Given the description of an element on the screen output the (x, y) to click on. 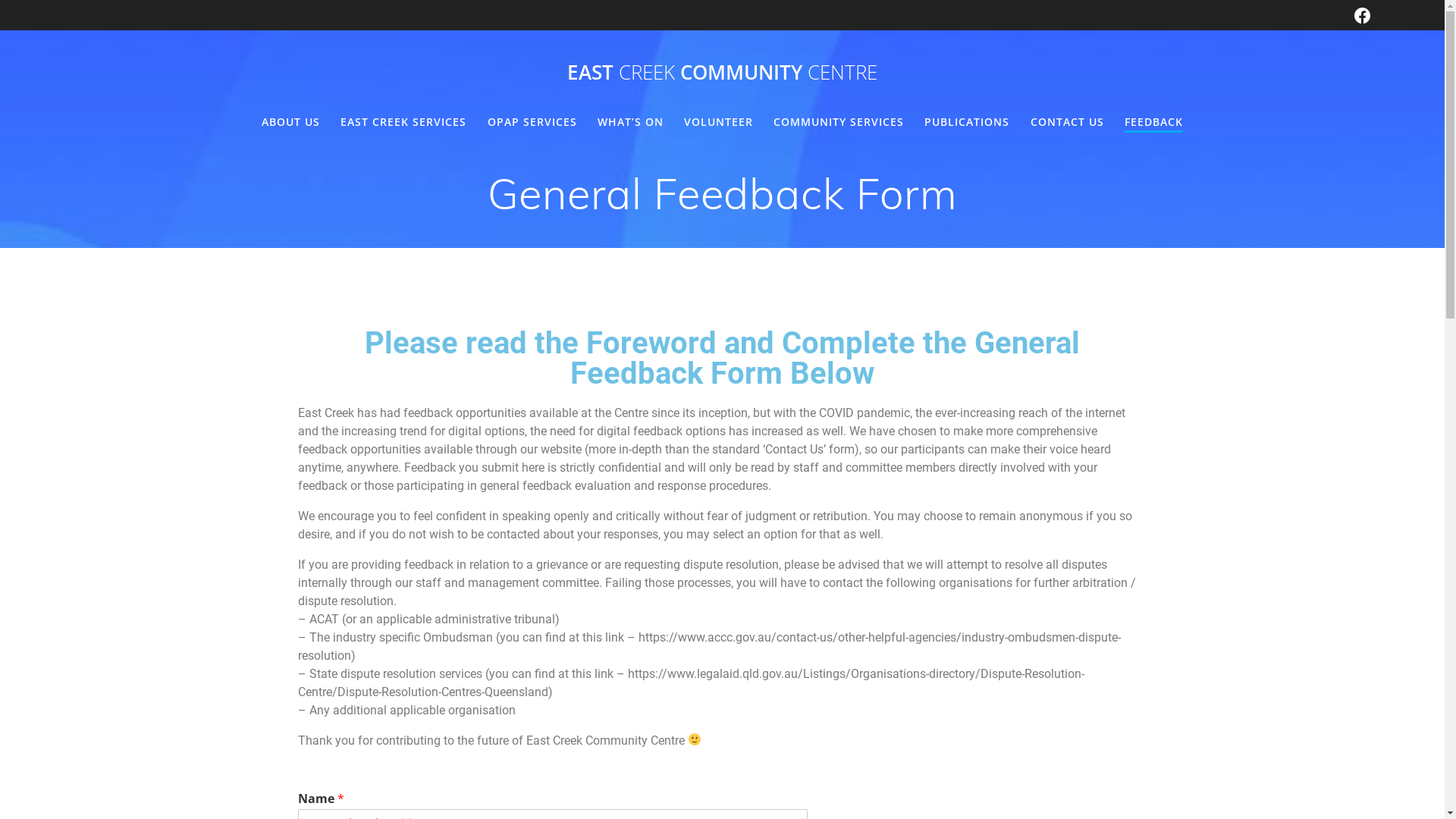
COMMUNITY SERVICES Element type: text (838, 121)
PUBLICATIONS Element type: text (966, 121)
OPAP SERVICES Element type: text (532, 121)
VOLUNTEER Element type: text (718, 121)
EAST CREEK SERVICES Element type: text (403, 121)
CONTACT US Element type: text (1067, 121)
EAST CREEK COMMUNITY CENTRE Element type: text (722, 72)
ABOUT US Element type: text (290, 121)
FEEDBACK Element type: text (1153, 122)
